Given the description of an element on the screen output the (x, y) to click on. 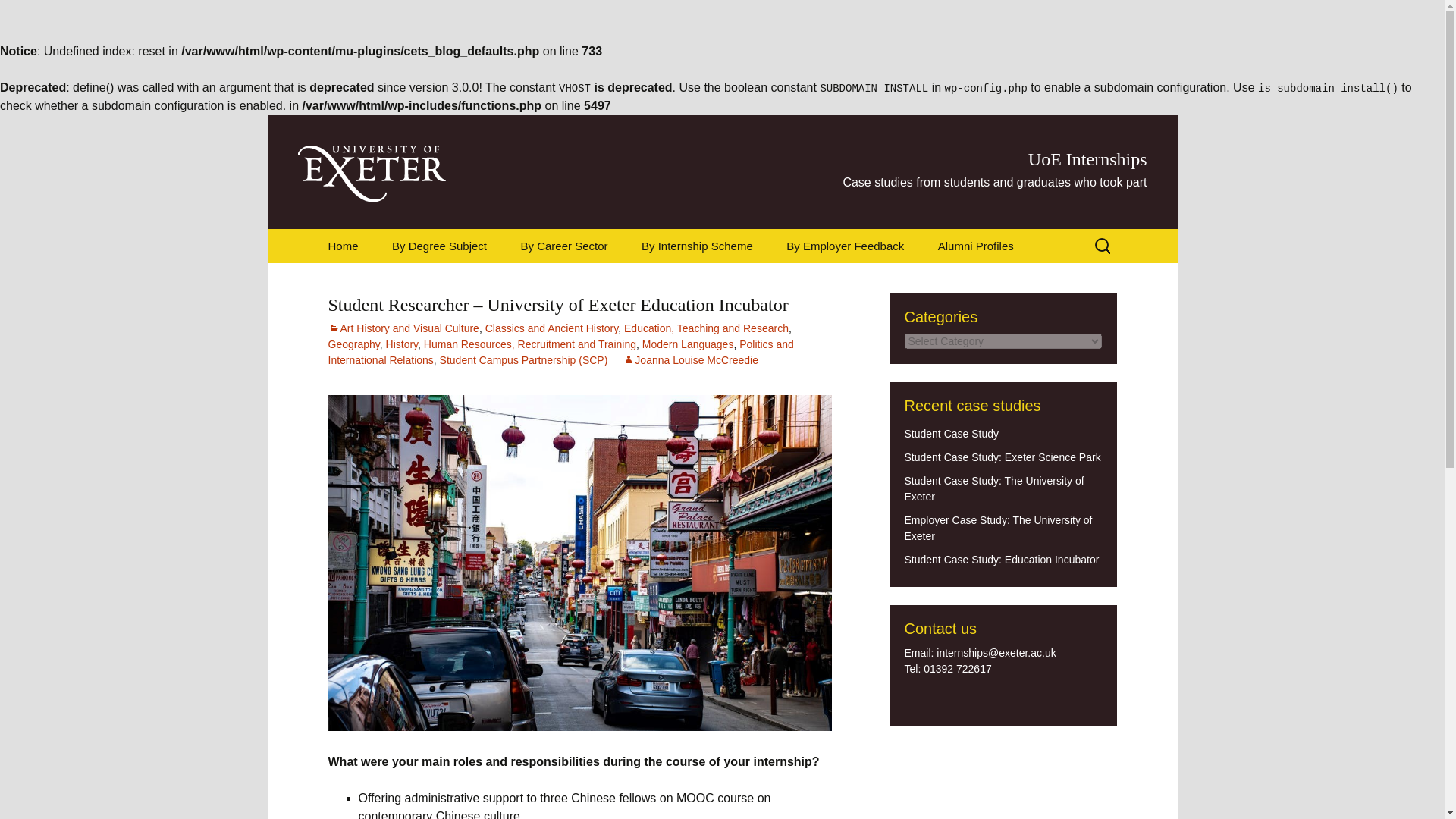
By Degree Subject (439, 245)
Home (342, 245)
By Career Sector (564, 245)
Accounting and Auditing (580, 285)
Accounting and Finance (452, 285)
View all posts by Joanna Louise McCreedie (690, 359)
